Given the description of an element on the screen output the (x, y) to click on. 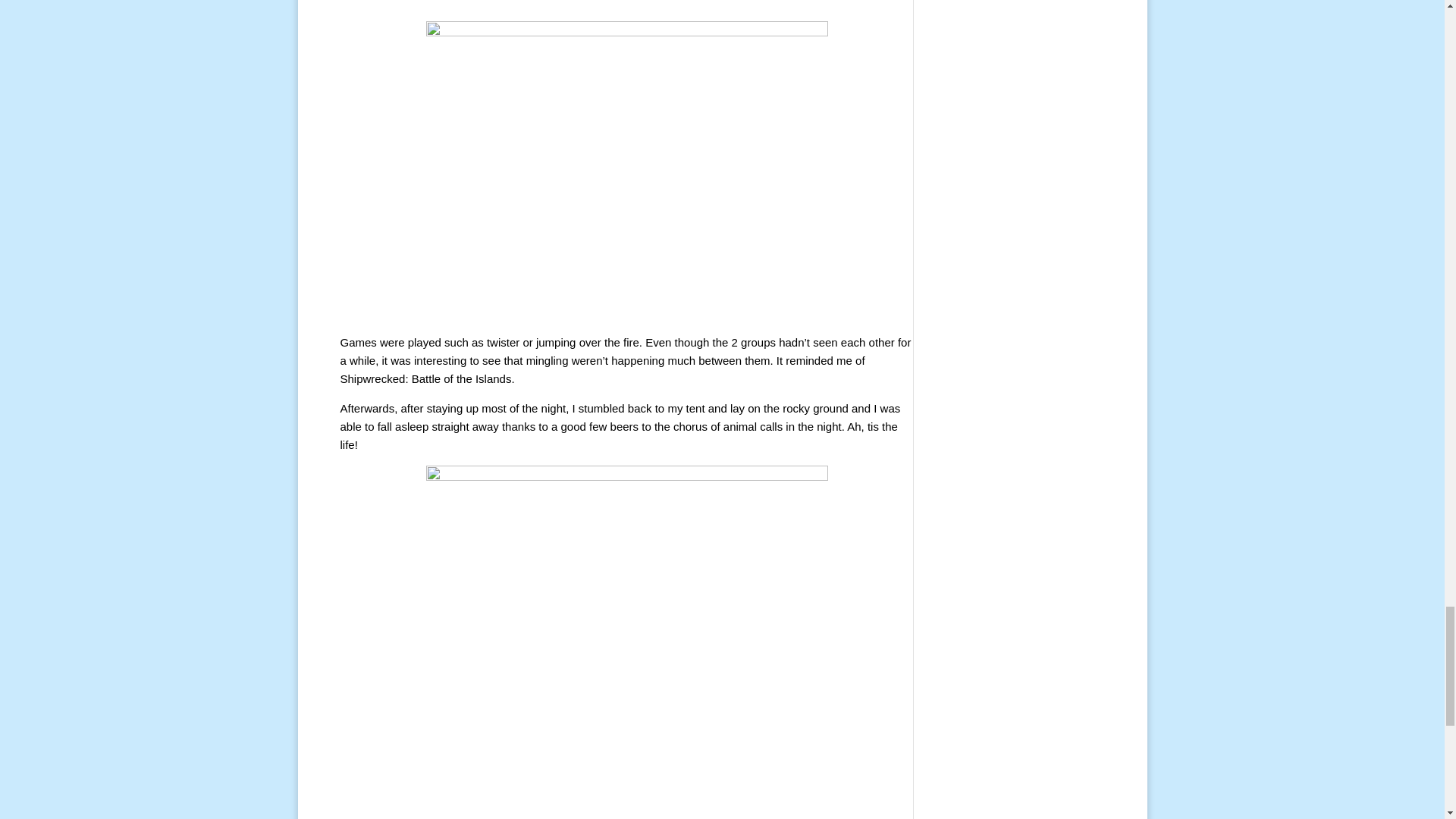
The Party! (627, 10)
Firejumping (627, 171)
